Given the description of an element on the screen output the (x, y) to click on. 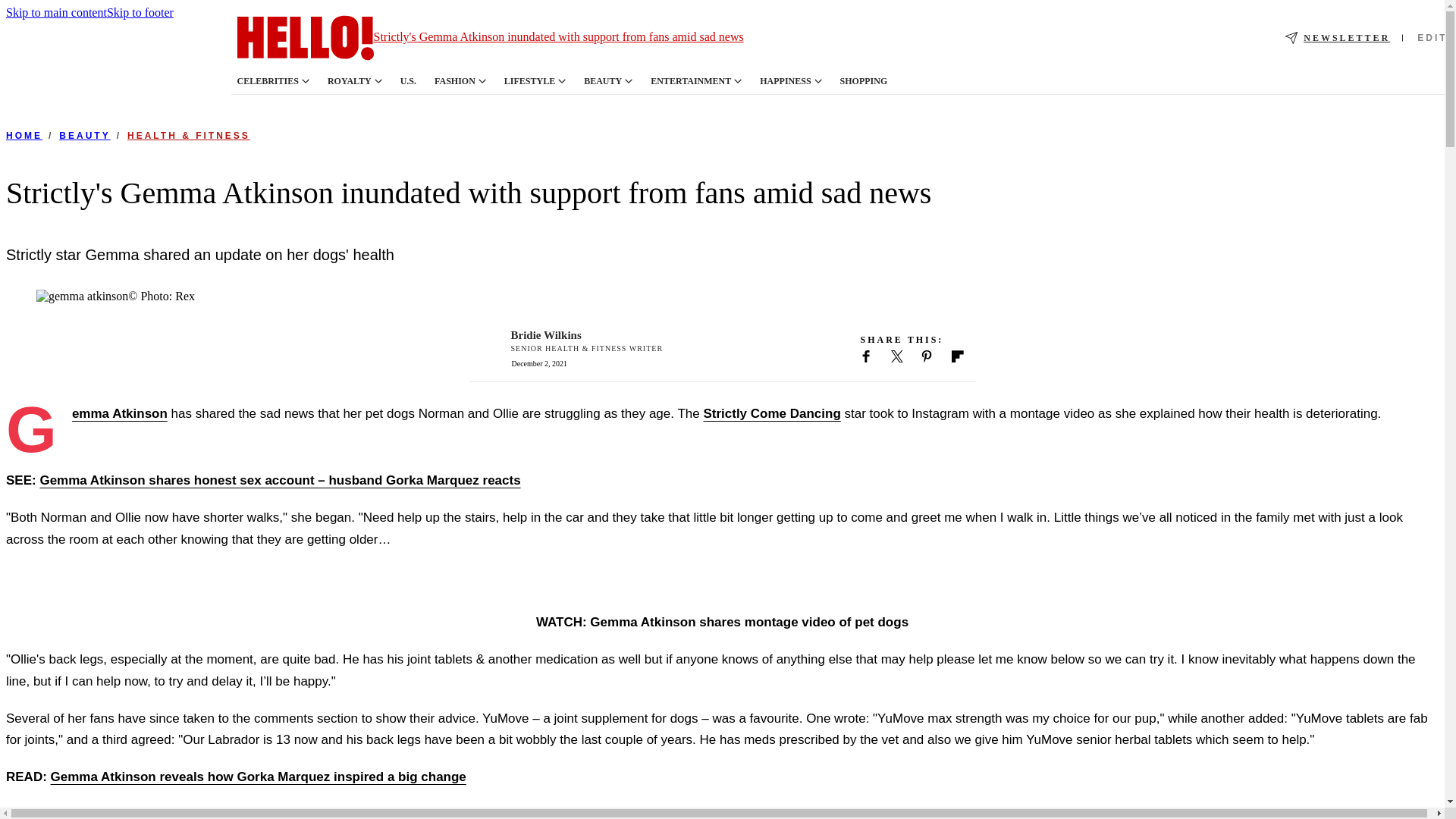
CELEBRITIES (266, 81)
Skip to main content (55, 11)
BEAUTY (602, 81)
Skip to footer (139, 11)
NEWSLETTER (1337, 38)
FASHION (454, 81)
U.S. (408, 81)
ROYALTY (349, 81)
